Given the description of an element on the screen output the (x, y) to click on. 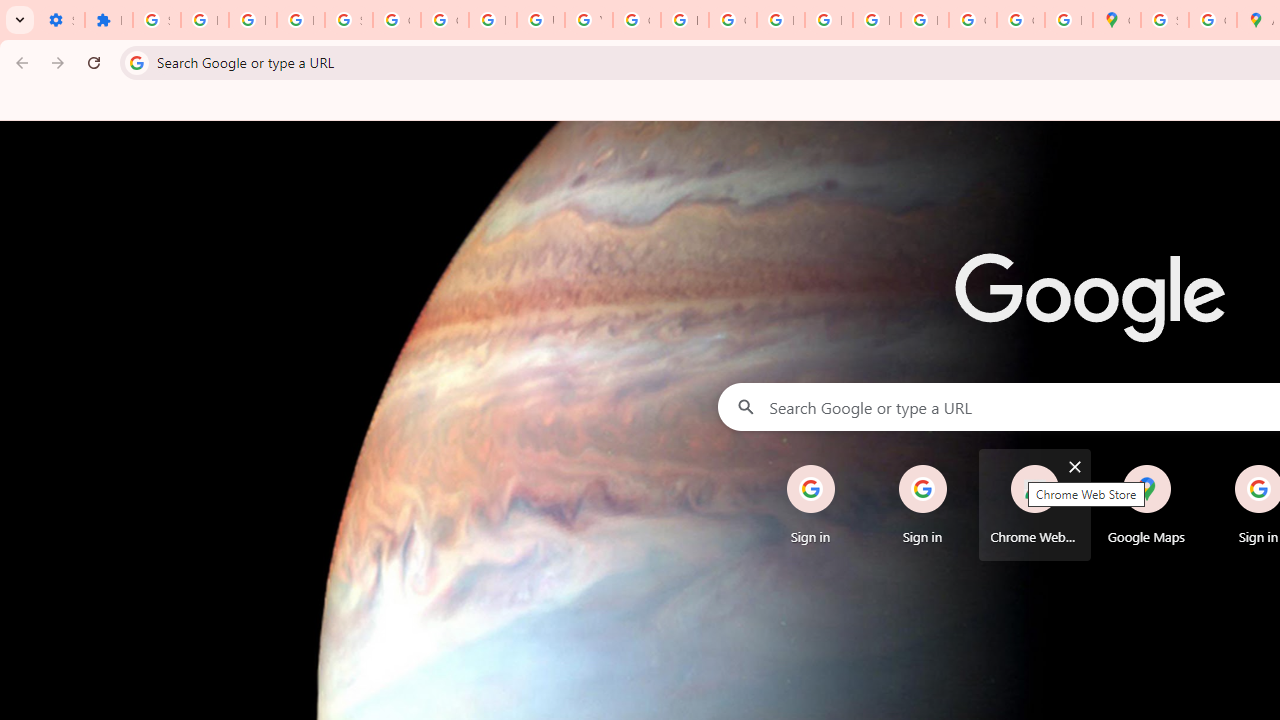
Settings - On startup (60, 20)
Google Maps (1146, 504)
Remove (1186, 466)
